Given the description of an element on the screen output the (x, y) to click on. 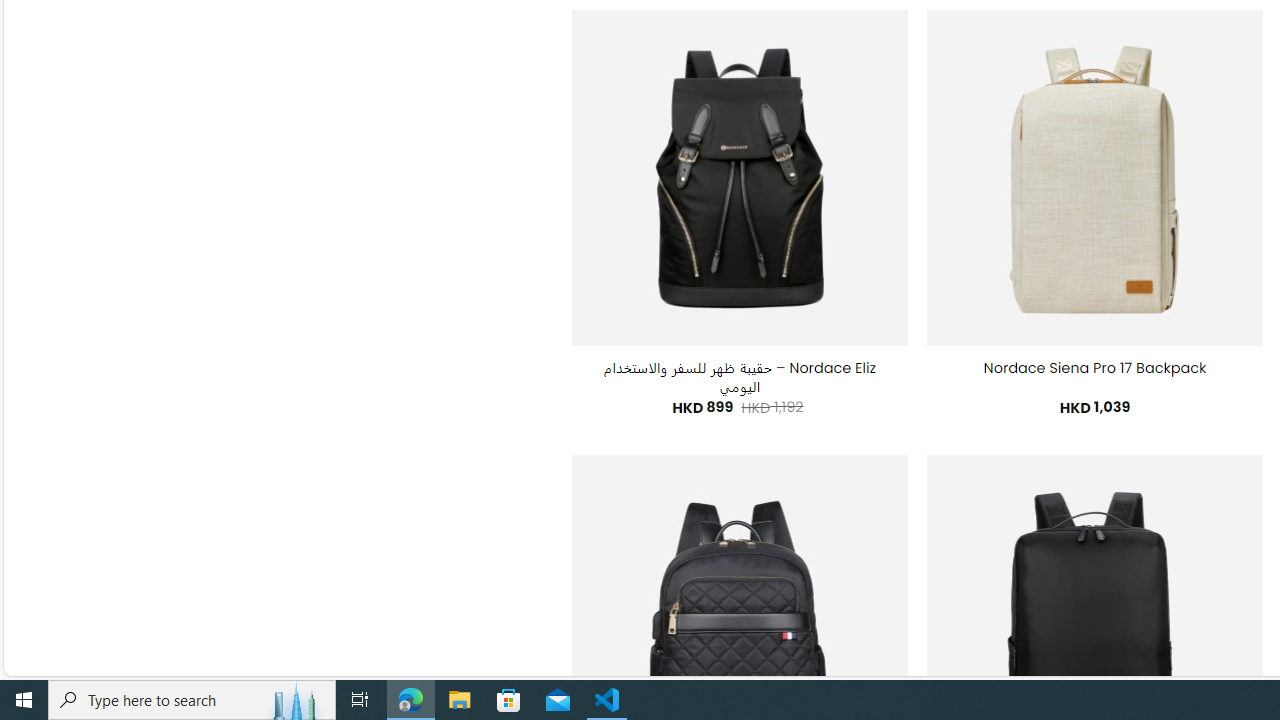
Nordace Siena Pro 17 Backpack (1095, 368)
